Given the description of an element on the screen output the (x, y) to click on. 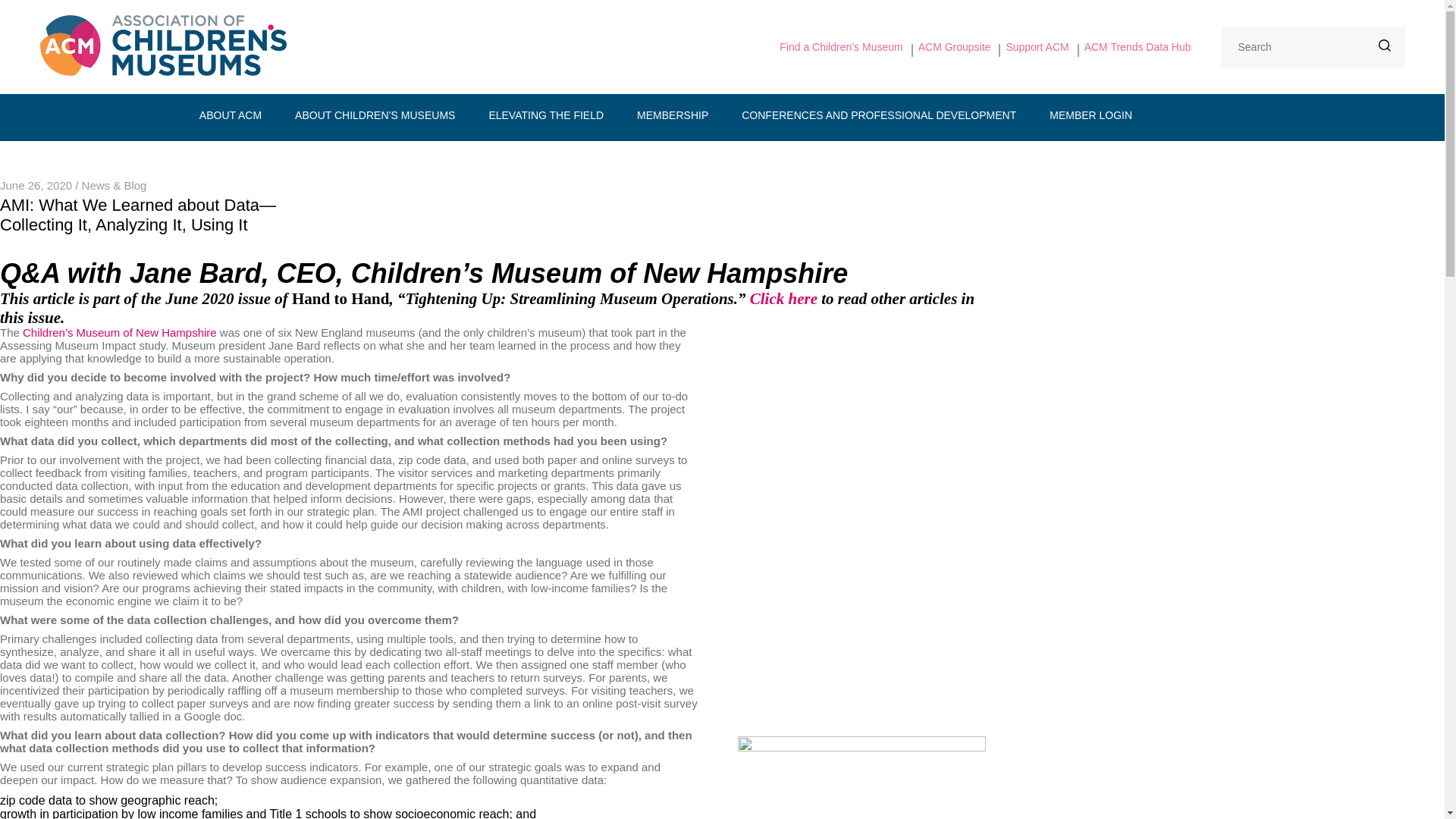
MEMBERSHIP (672, 115)
ACM Groupsite (954, 46)
ELEVATING THE FIELD (545, 115)
ACM Trends Data Hub (1137, 46)
ABOUT ACM (230, 115)
Support ACM (1037, 46)
